Given the description of an element on the screen output the (x, y) to click on. 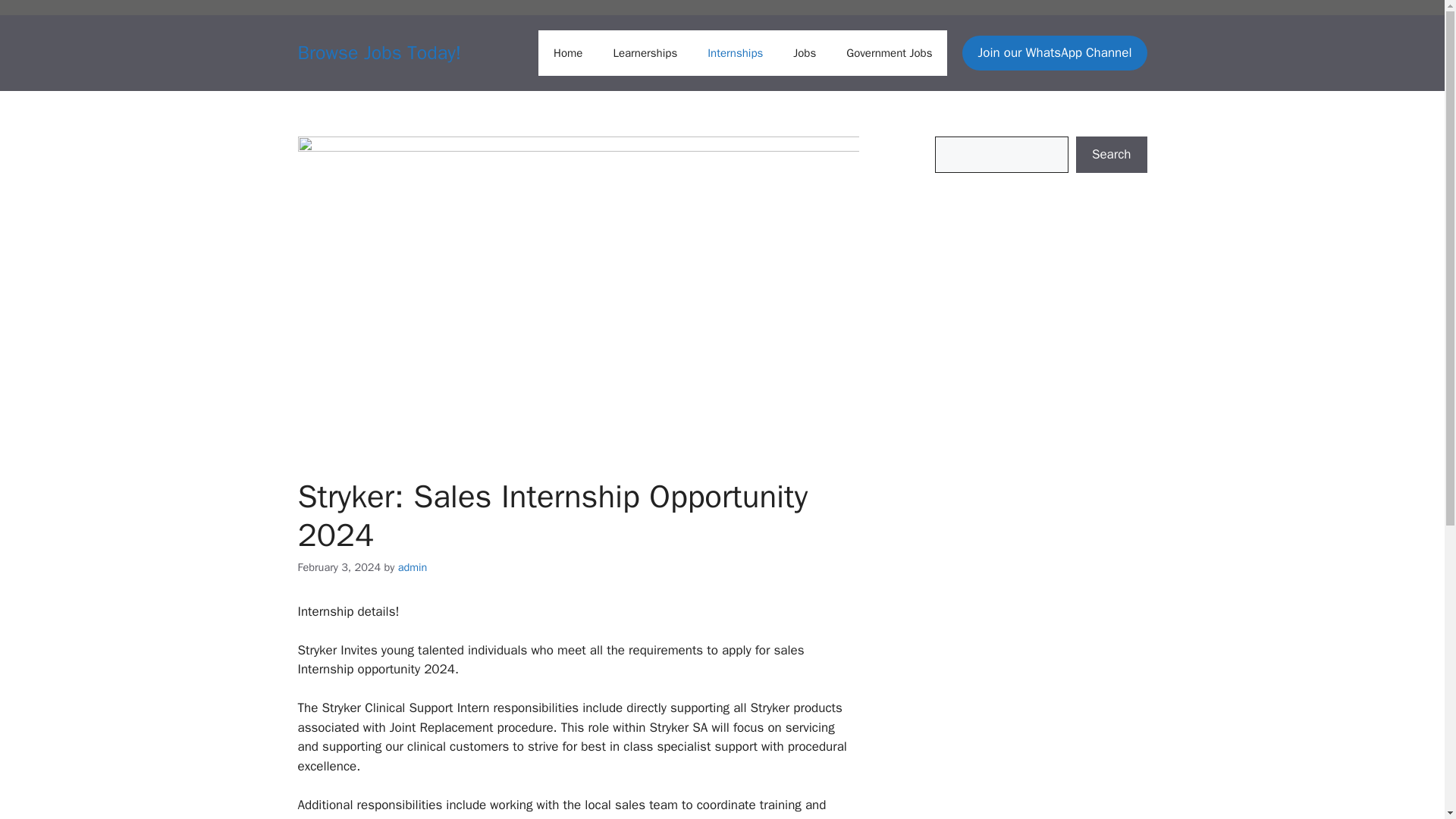
Browse Jobs Today! (379, 52)
Join our WhatsApp Channel (1054, 53)
admin (412, 567)
Jobs (804, 53)
Government Jobs (889, 53)
Home (567, 53)
Search (1111, 154)
View all posts by admin (412, 567)
Internships (735, 53)
Learnerships (644, 53)
